Given the description of an element on the screen output the (x, y) to click on. 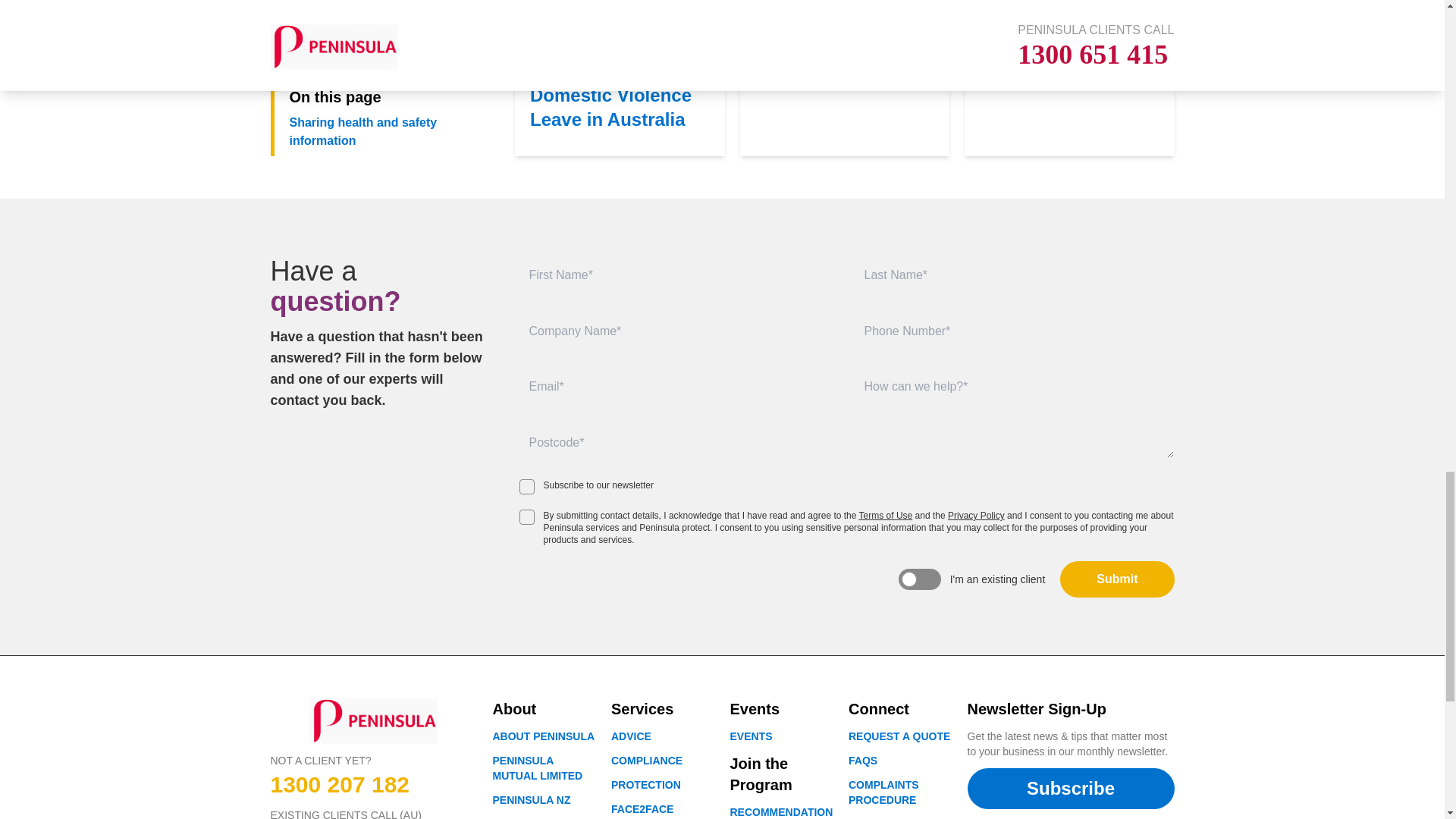
Recommendation Program (780, 812)
Employsures Frequently Asked Questions (862, 760)
on (526, 486)
Peninsula Face 2 Face (641, 808)
Peninsula Mutual Limited (538, 768)
Peninsula Careers (523, 818)
About Peninsula (899, 736)
Peninsula Events (750, 736)
Peninsula Mutual Limited (531, 799)
